Given the description of an element on the screen output the (x, y) to click on. 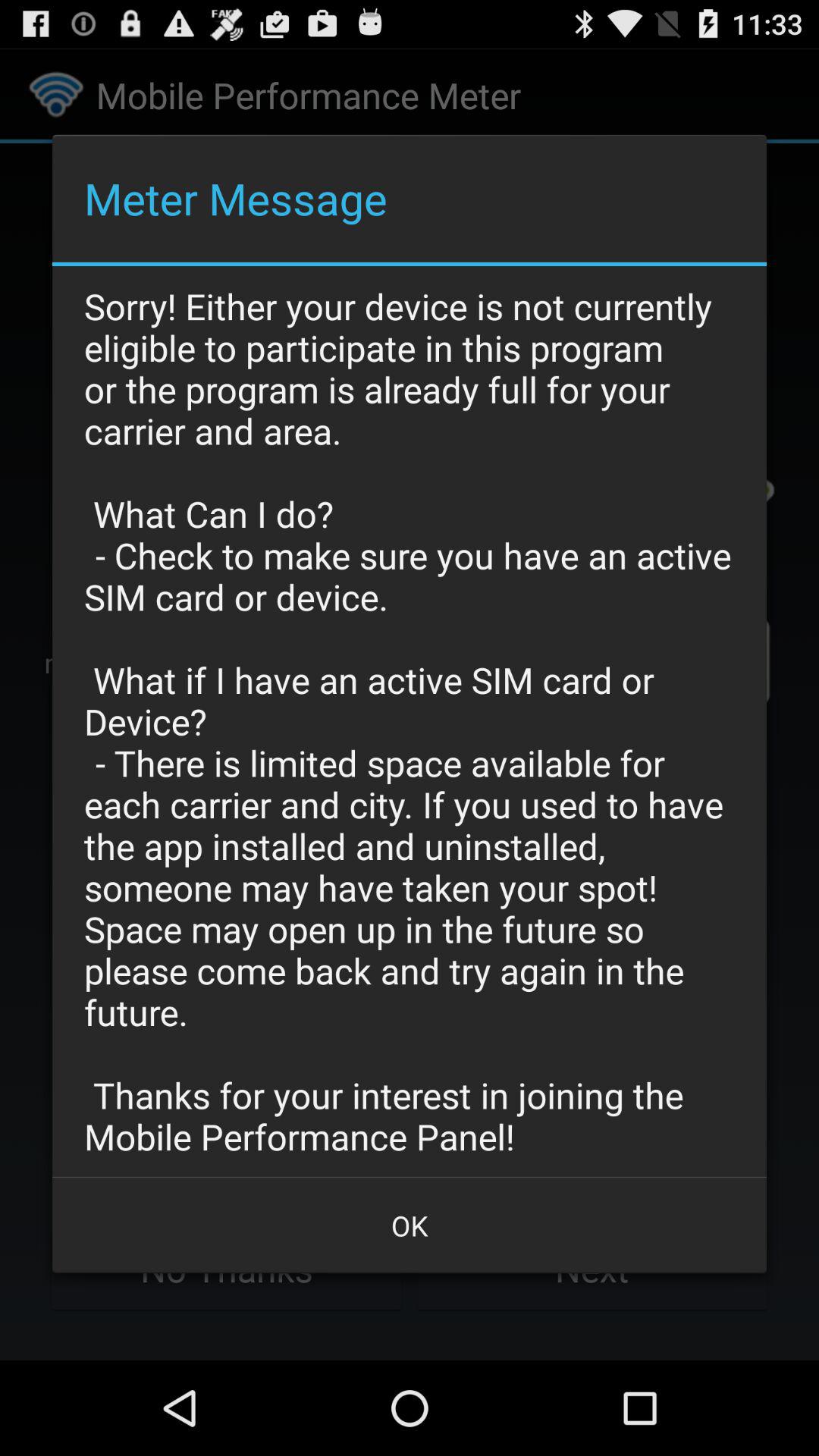
flip until ok (409, 1225)
